Given the description of an element on the screen output the (x, y) to click on. 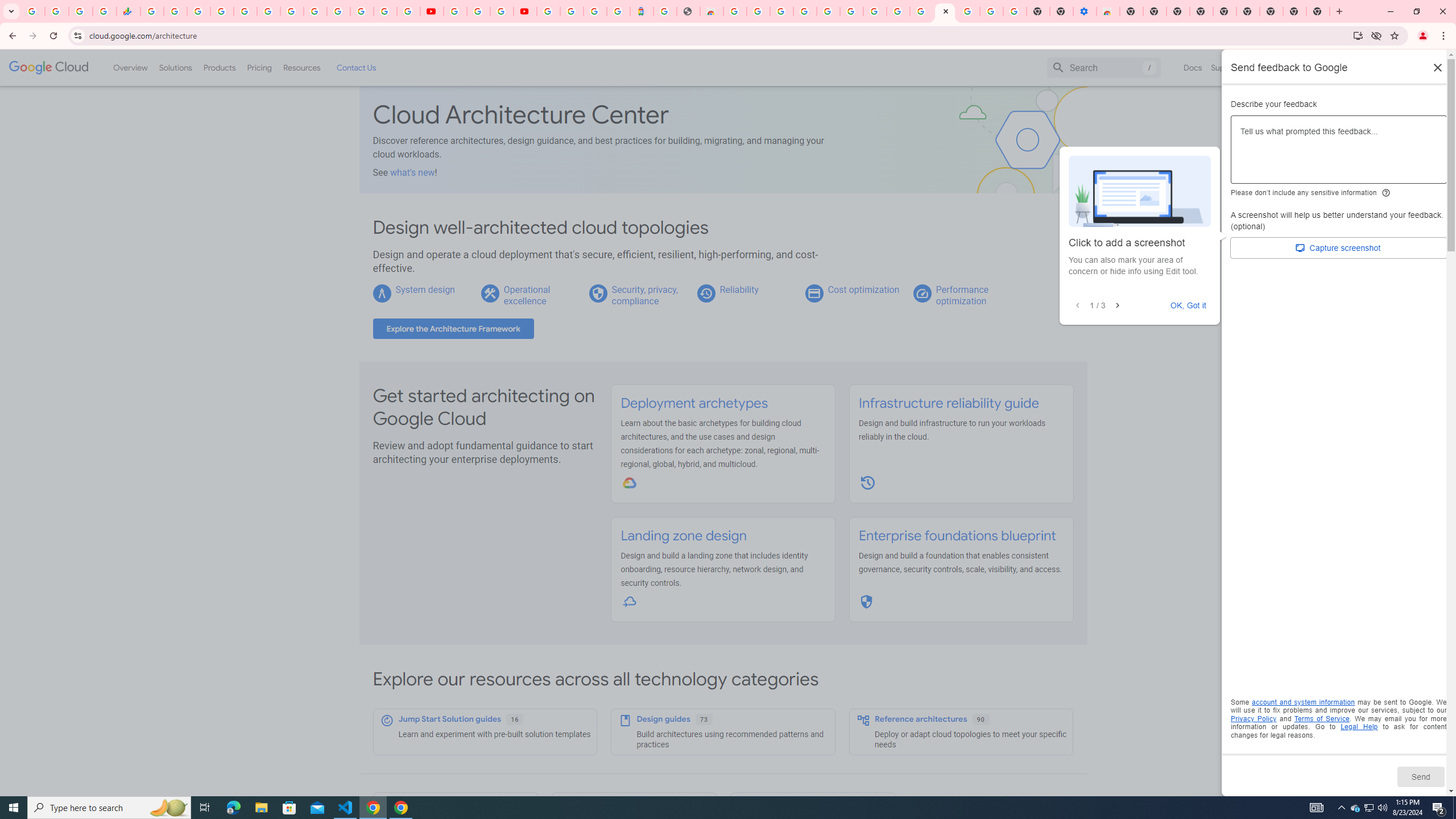
account and system information (1303, 702)
Enterprise foundations blueprint (956, 535)
Send (1420, 776)
OK, Got it (1188, 305)
Content Creator Programs & Opportunities - YouTube Creators (524, 11)
Cost optimization (863, 289)
Reliability (738, 289)
Explore the Architecture Framework (453, 328)
